Given the description of an element on the screen output the (x, y) to click on. 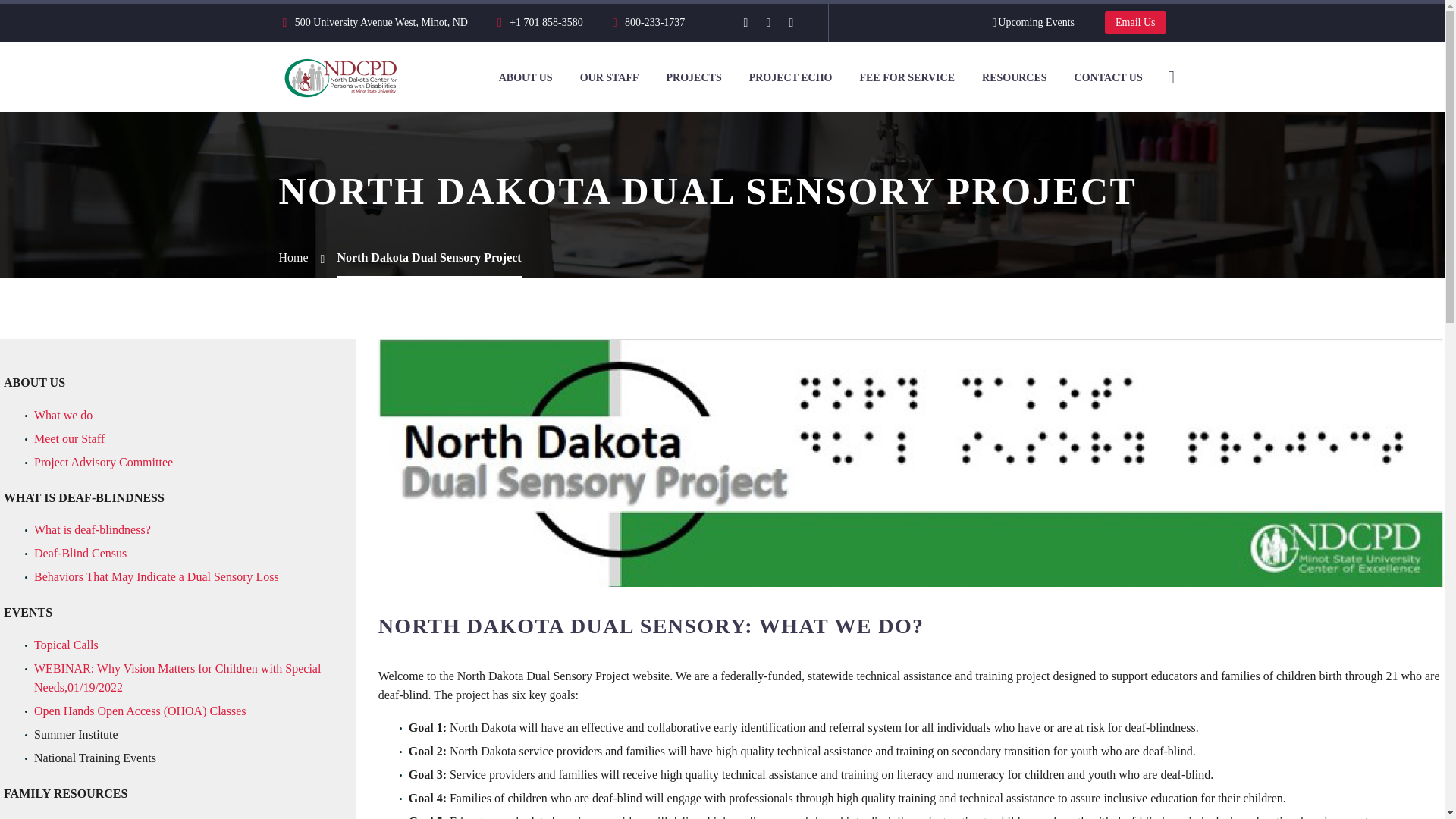
CONTACT US (1108, 76)
YouTube (790, 22)
What we do (63, 414)
RESOURCES (1014, 76)
Topical Calls (66, 644)
Email Us (1135, 22)
ABOUT US (525, 76)
Twitter (767, 22)
What is deaf-blindness? (92, 529)
Meet our Staff (68, 438)
PROJECT ECHO (791, 76)
PROJECTS (694, 76)
Home (293, 256)
Project Advisory Committee (103, 461)
Facebook (745, 22)
